Given the description of an element on the screen output the (x, y) to click on. 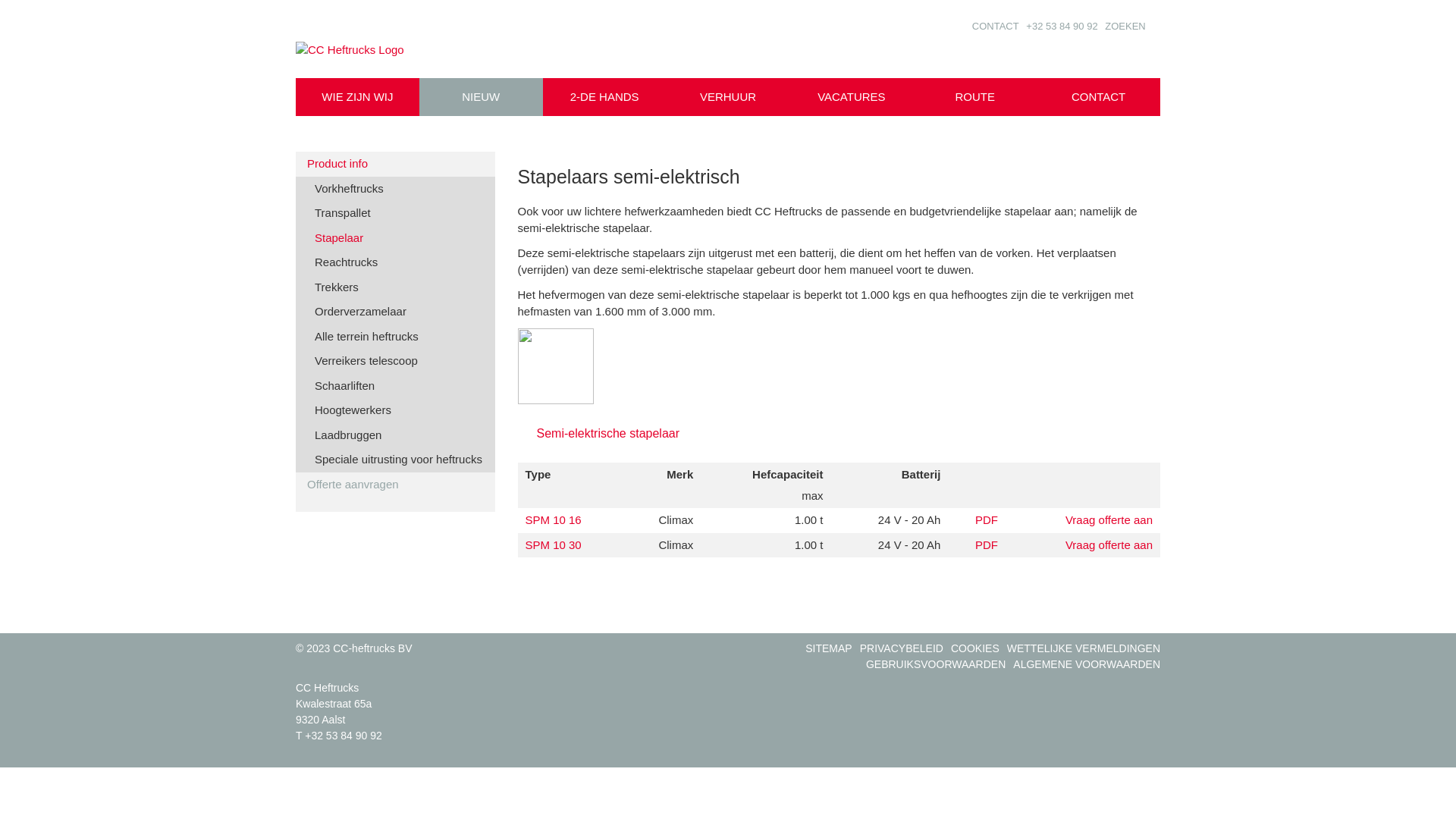
2-DE HANDS Element type: text (604, 97)
Transpallet Element type: text (399, 212)
Laadbruggen Element type: text (399, 435)
WIE ZIJN WIJ Element type: text (357, 97)
Speciale uitrusting voor heftrucks Element type: text (399, 459)
Trekkers Element type: text (399, 286)
Semi-elektrische stapelaar Element type: text (598, 432)
Orderverzamelaar Element type: text (399, 311)
CC Heftrucks
Kwalestraat 65a
9320 Aalst
T Element type: text (333, 711)
+32 53 84 90 92 Element type: text (343, 735)
SITEMAP Element type: text (828, 648)
Alle terrein heftrucks Element type: text (399, 336)
ROUTE Element type: text (974, 97)
COOKIES Element type: text (974, 648)
SPM 10 30 Element type: text (552, 544)
+32 53 84 90 92 Element type: text (1061, 25)
Offerte aanvragen Element type: text (395, 483)
Product info Element type: text (395, 163)
GEBRUIKSVOORWAARDEN Element type: text (935, 664)
SPM 10 16 Element type: text (552, 519)
Vraag offerte aan Element type: text (1108, 519)
VERHUUR Element type: text (728, 97)
Vorkheftrucks Element type: text (399, 187)
WETTELIJKE VERMELDINGEN Element type: text (1083, 648)
VACATURES Element type: text (851, 97)
Vraag offerte aan Element type: text (1108, 544)
Stapelaar Element type: text (399, 238)
Schaarliften Element type: text (399, 385)
Verreikers telescoop Element type: text (399, 360)
PDF Element type: text (986, 544)
Reachtrucks Element type: text (399, 262)
CONTACT Element type: text (1098, 97)
CONTACT Element type: text (995, 25)
ALGEMENE VOORWAARDEN Element type: text (1086, 664)
PRIVACYBELEID Element type: text (901, 648)
Hoogtewerkers Element type: text (399, 410)
NIEUW Element type: text (480, 97)
ZOEKEN Element type: text (1124, 25)
PDF Element type: text (986, 519)
